Given the description of an element on the screen output the (x, y) to click on. 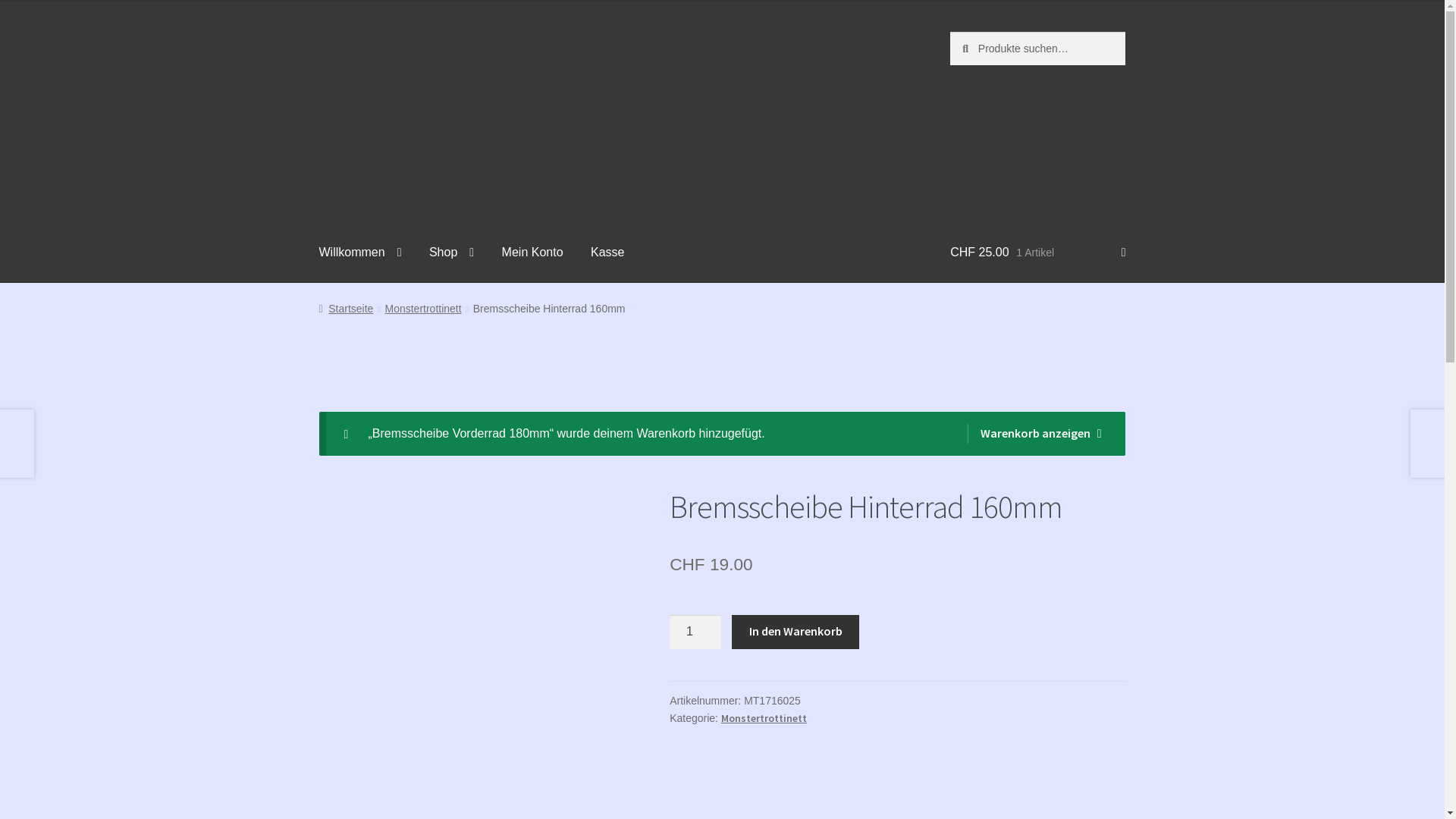
Startseite Element type: text (346, 308)
Kasse Element type: text (607, 252)
Suche Element type: text (0, 0)
Mein Konto Element type: text (532, 252)
Shop Element type: text (451, 252)
Willkommen Element type: text (360, 252)
Zur Navigation springen Element type: text (318, 31)
Monstertrottinett Element type: text (763, 717)
CHF 25.00 1 Artikel Element type: text (1037, 252)
Warenkorb anzeigen Element type: text (1034, 433)
In den Warenkorb Element type: text (795, 632)
Monstertrottinett Element type: text (422, 308)
